Given the description of an element on the screen output the (x, y) to click on. 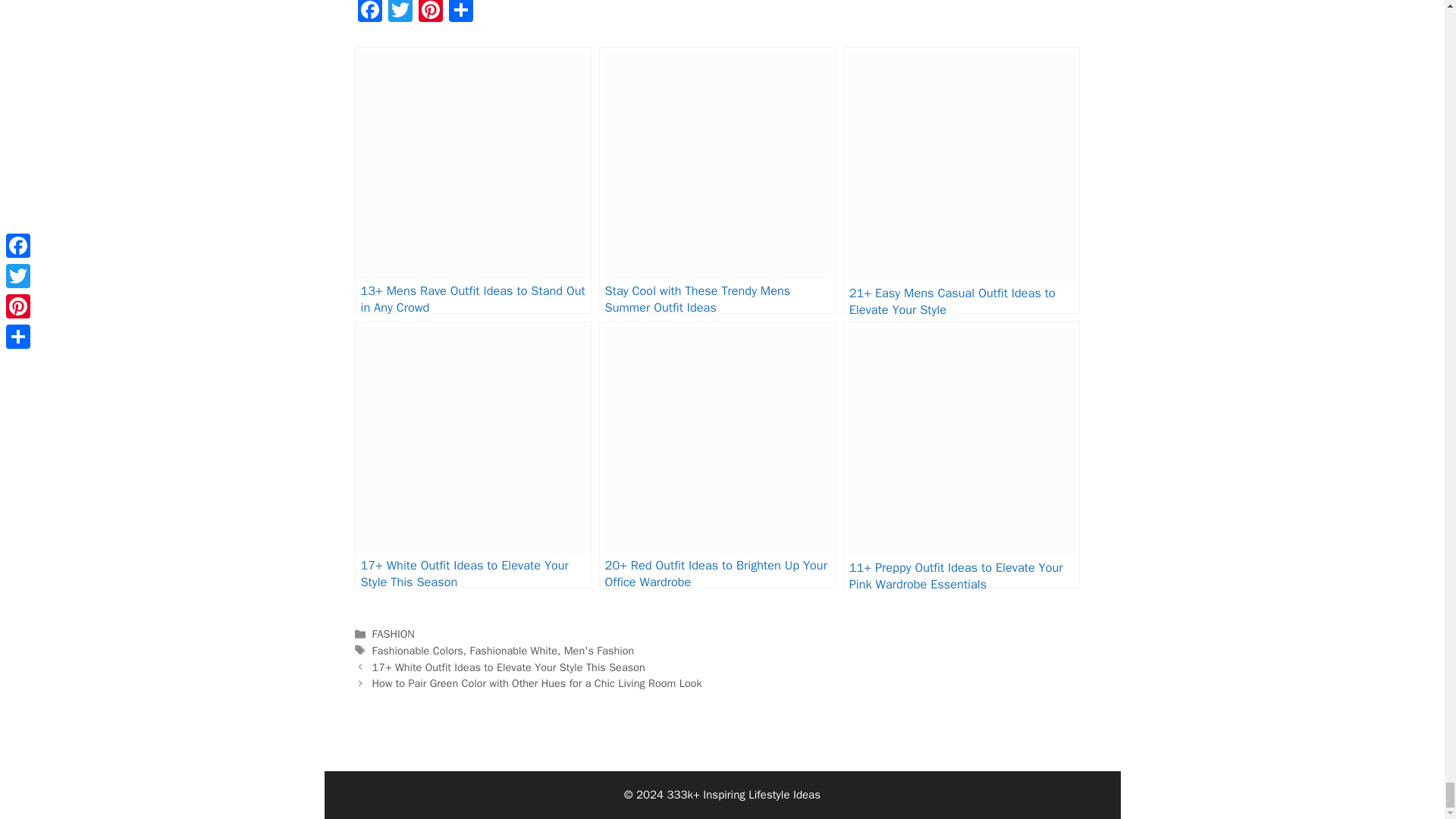
Facebook (370, 13)
Pinterest (429, 13)
Twitter (399, 13)
